Given the description of an element on the screen output the (x, y) to click on. 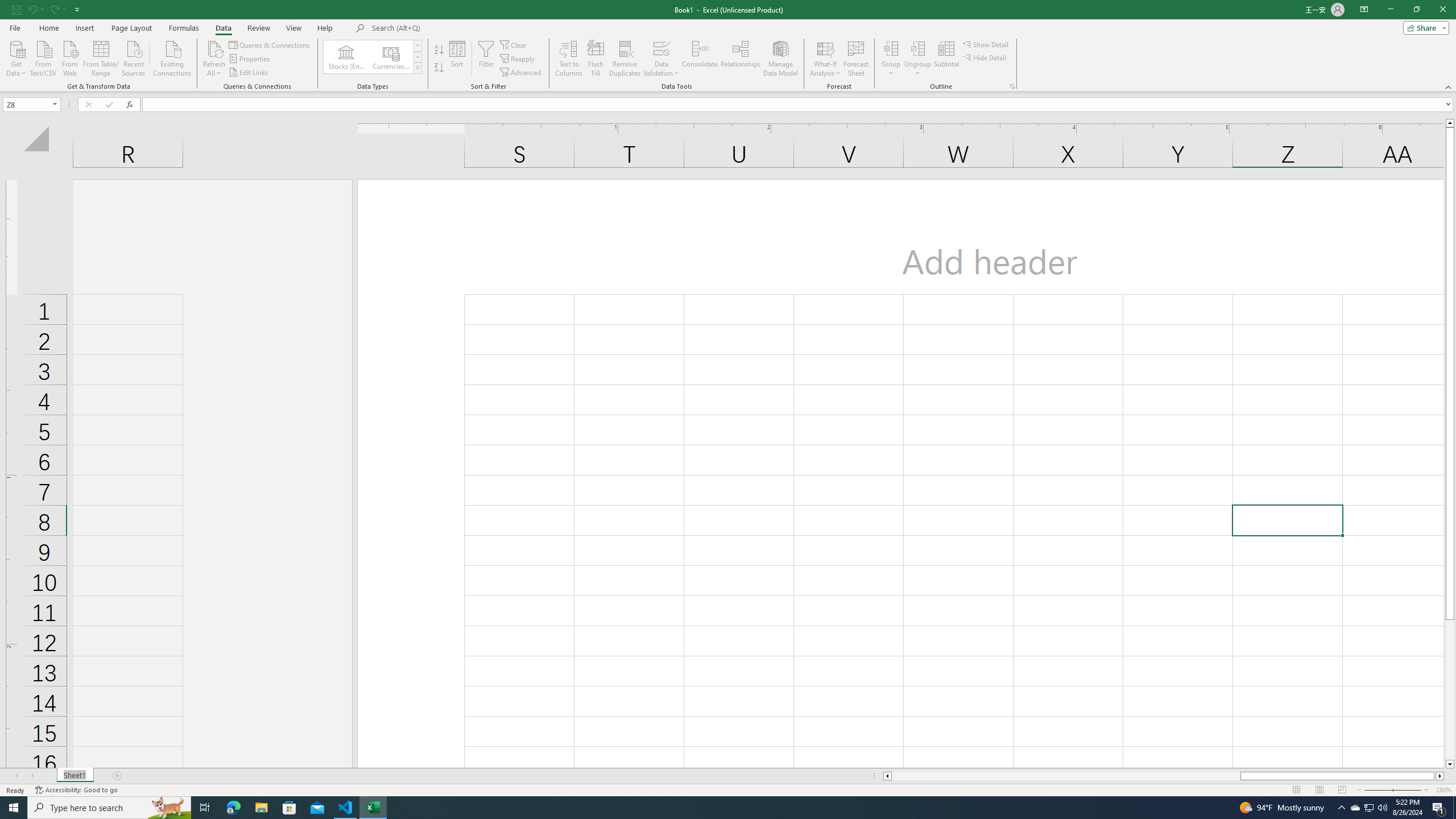
Restore Down (1416, 9)
Page Break Preview (1342, 790)
Consolidate... (700, 58)
Collapse the Ribbon (1448, 86)
Existing Connections (171, 57)
Refresh All (214, 58)
From Text/CSV (43, 57)
From Web (69, 57)
Zoom (1392, 790)
Class: NetUIImage (418, 68)
Filter (485, 58)
File Tab (15, 27)
